Given the description of an element on the screen output the (x, y) to click on. 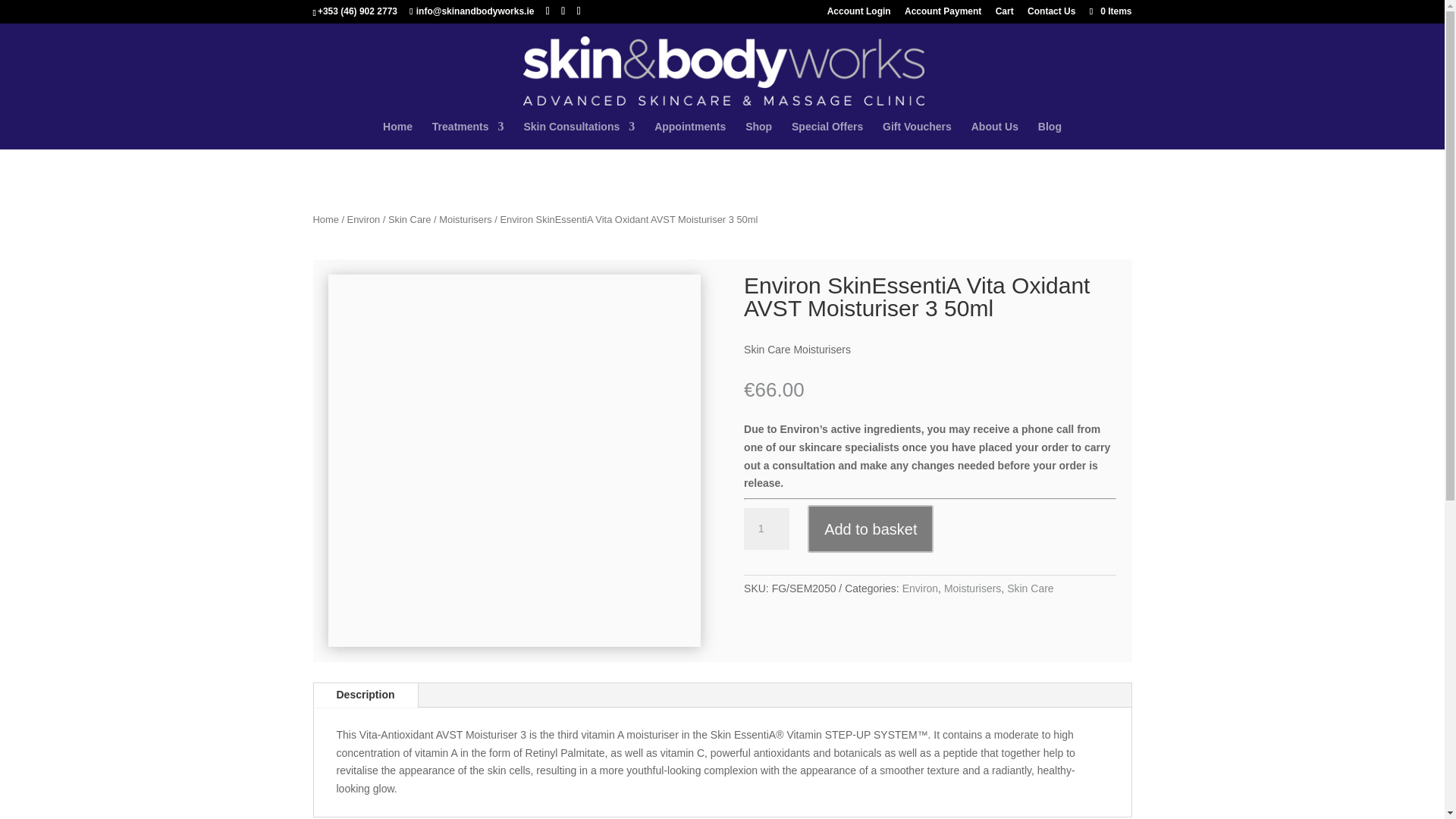
Account Login (859, 14)
1 (766, 528)
Account Payment (942, 14)
Home (397, 135)
Contact Us (1051, 14)
Treatments (467, 135)
0 Items (1108, 10)
Cart (1004, 14)
